Given the description of an element on the screen output the (x, y) to click on. 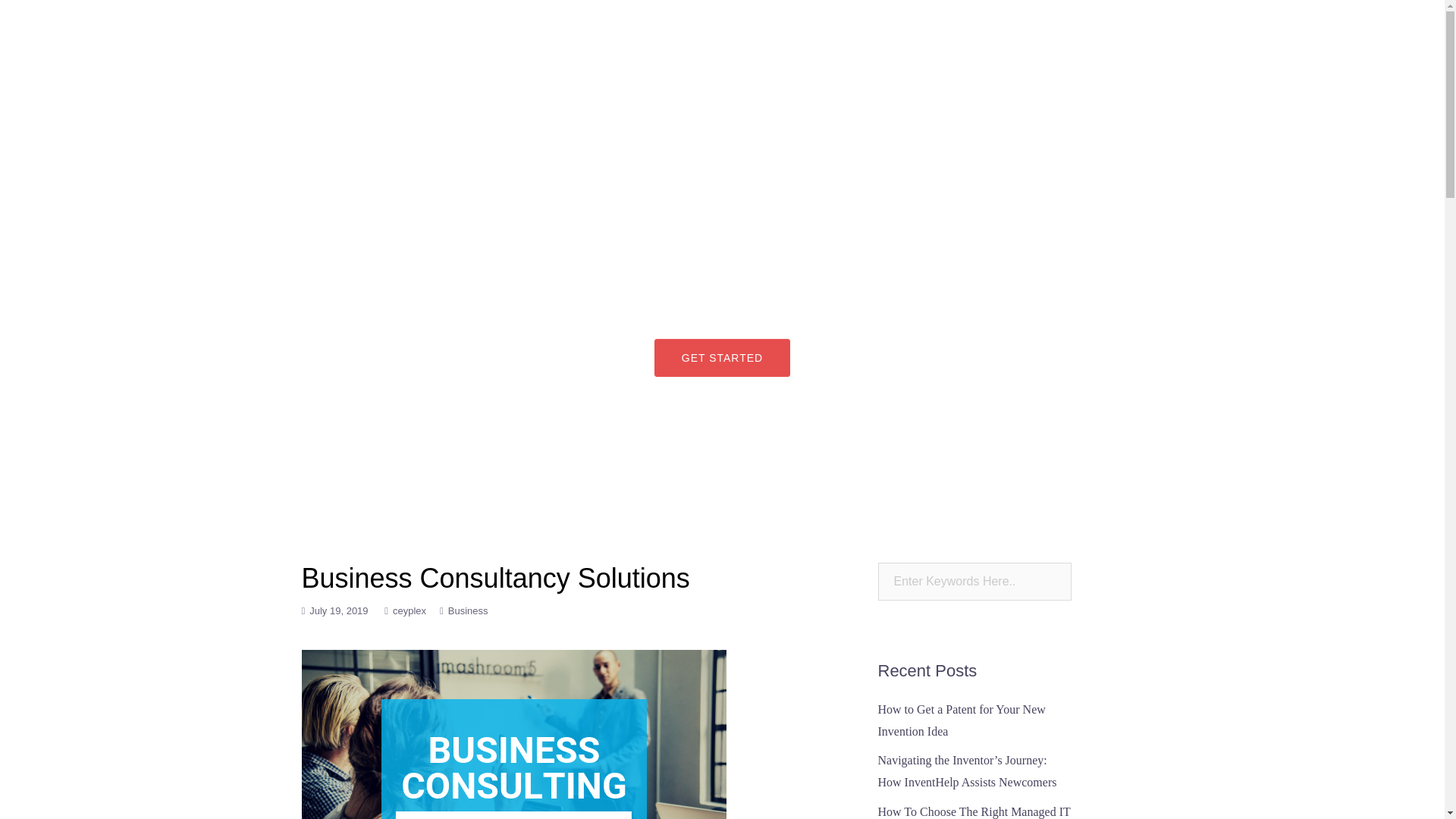
Business (467, 610)
How to Get a Patent for Your New Invention Idea (961, 719)
ceyplex (409, 610)
Search (50, 18)
July 19, 2019 (338, 610)
GET STARTED (721, 357)
CEYPLEX (345, 35)
